Given the description of an element on the screen output the (x, y) to click on. 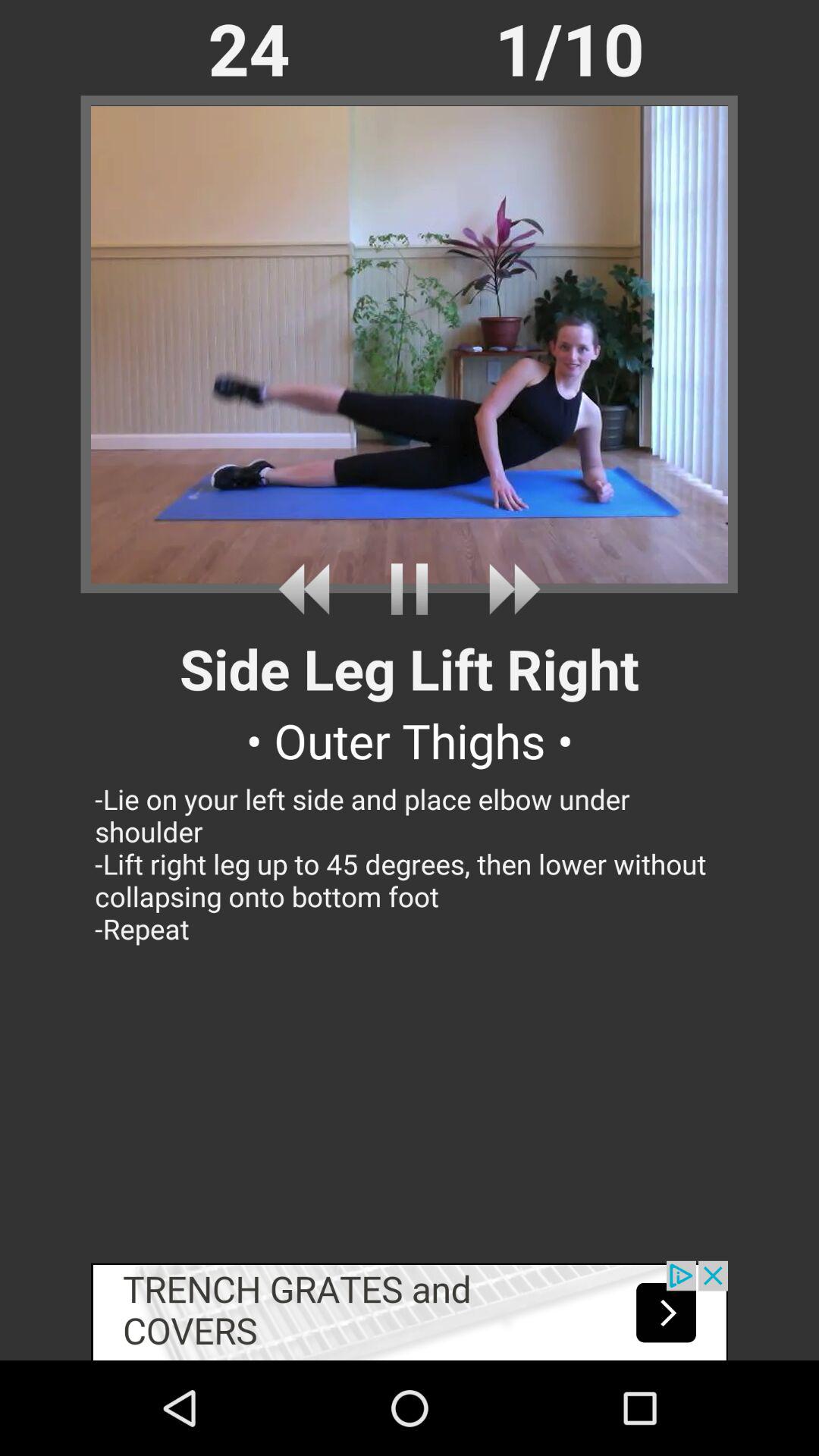
go to pause (409, 589)
